Given the description of an element on the screen output the (x, y) to click on. 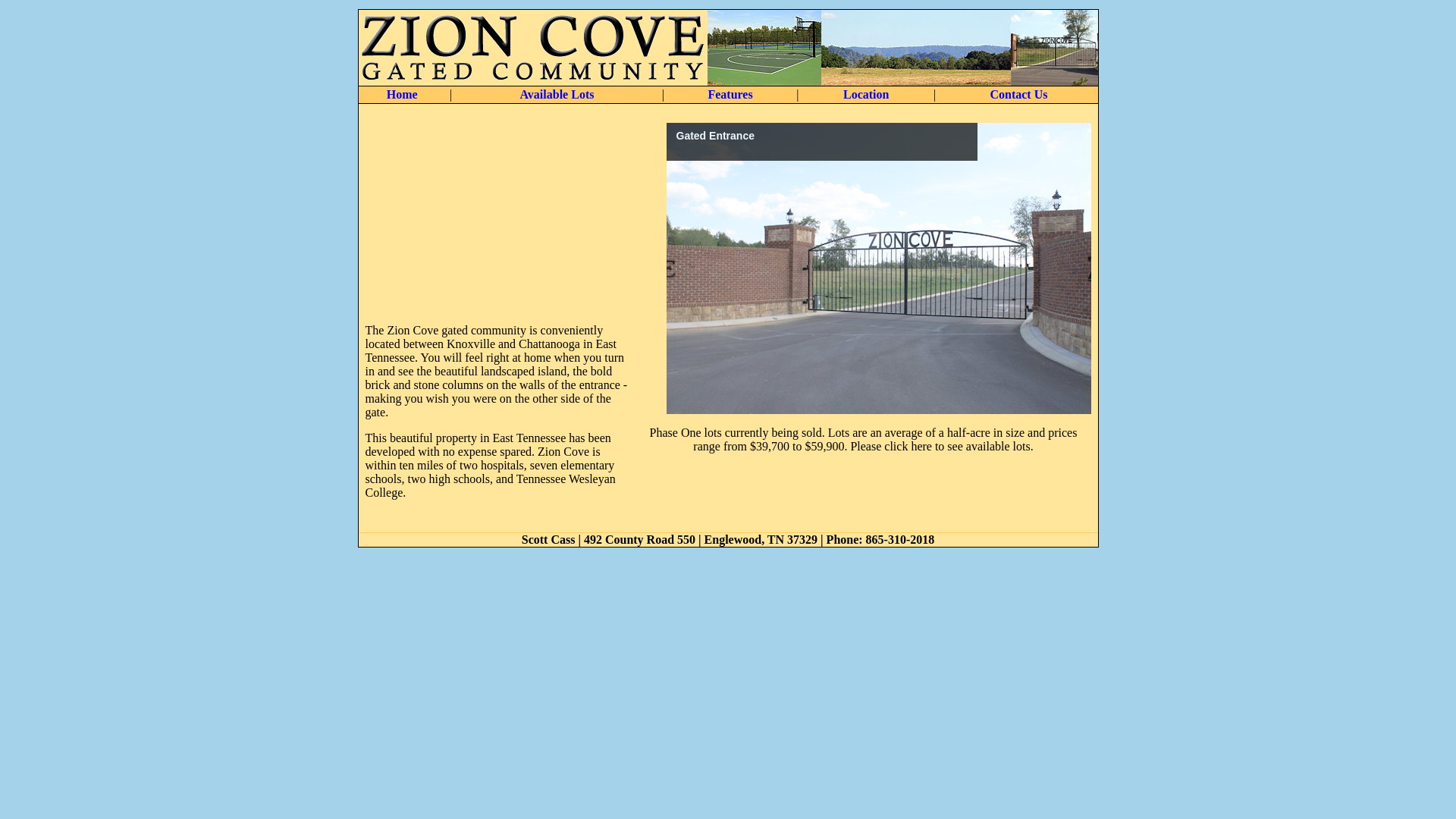
Location (865, 93)
Home (402, 93)
Features (729, 93)
Available Lots (556, 93)
Contact Us (1018, 93)
